Given the description of an element on the screen output the (x, y) to click on. 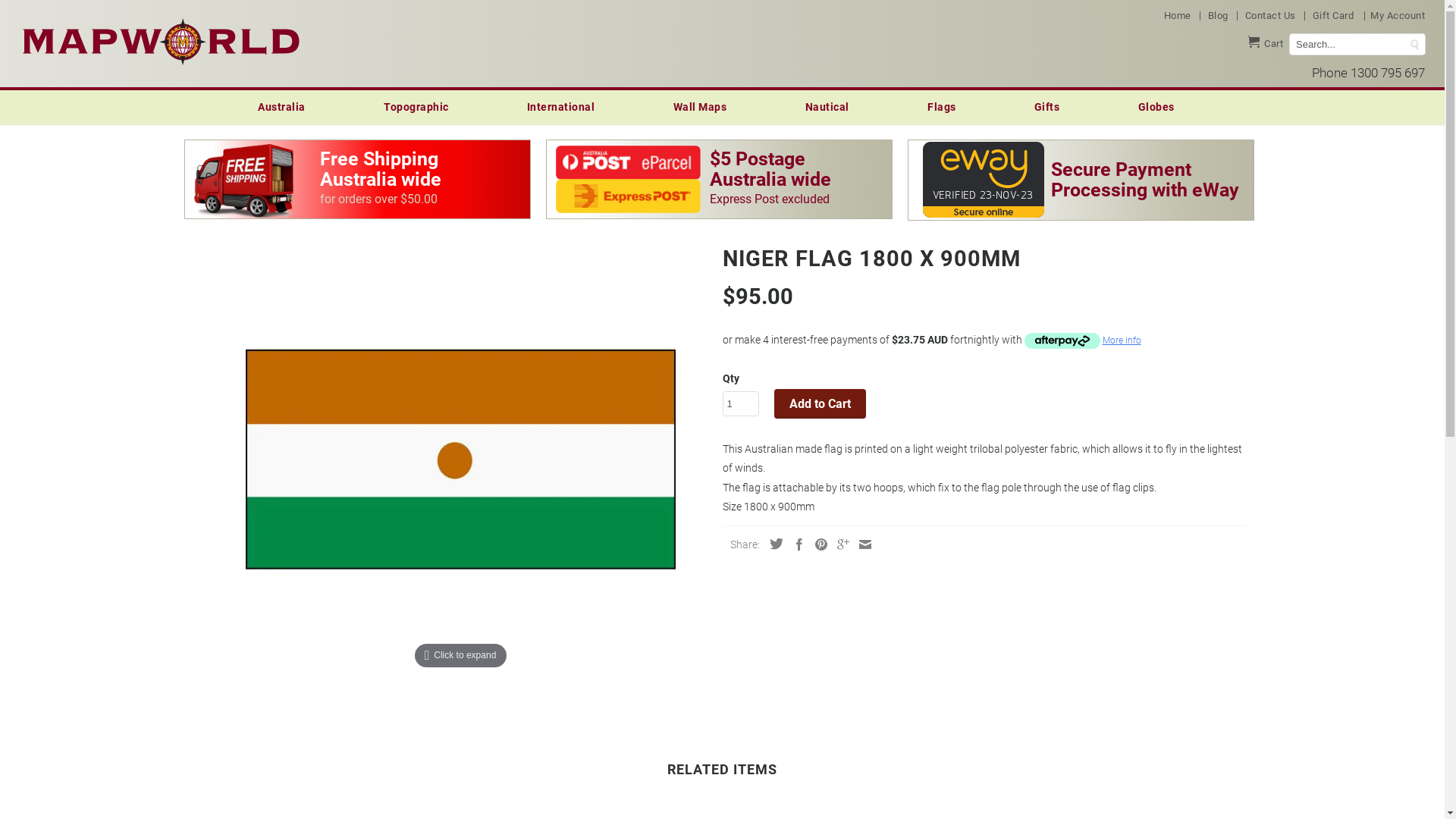
Wall Maps Element type: text (705, 106)
Flags Element type: text (947, 106)
Australia Element type: text (287, 106)
More info Element type: text (1081, 340)
Secure Payment Processing with eWay Element type: text (1080, 179)
Cart Element type: text (1265, 44)
Share this on Pinterest Element type: hover (816, 544)
Free Shipping Australia wide
for orders over $50.00 Element type: text (356, 179)
Blog Element type: text (1221, 18)
Gift Card Element type: text (1336, 18)
Email this to a friend Element type: hover (860, 544)
Gifts Element type: text (1052, 106)
My Account Element type: text (1397, 18)
Add to Cart Element type: text (819, 403)
Topographic Element type: text (421, 106)
Contact Us Element type: text (1274, 18)
Share this on Twitter Element type: hover (771, 543)
Share this on Facebook Element type: hover (795, 544)
Click to expand Element type: text (460, 457)
Mapworld Element type: hover (160, 39)
Home Element type: text (1180, 18)
Nautical Element type: text (832, 106)
Globes Element type: text (1161, 106)
International Element type: text (566, 106)
$5 Postage Australia wide
Express Post excluded Element type: text (719, 179)
